Given the description of an element on the screen output the (x, y) to click on. 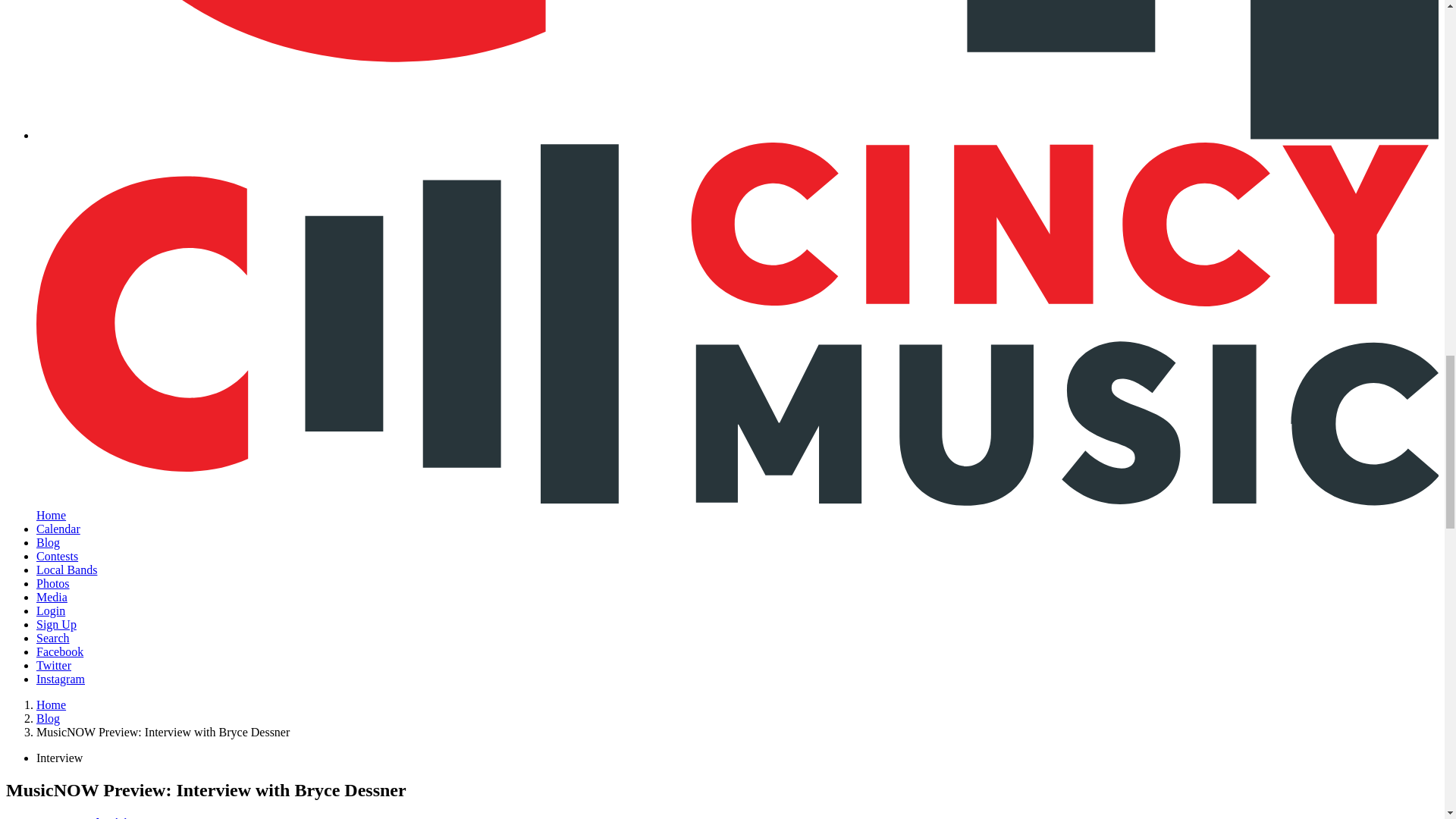
Contests (57, 555)
Sign Up (56, 624)
Blog (47, 542)
Local Bands (66, 569)
Home (50, 704)
Media (51, 596)
Calendar (58, 528)
Blog (47, 717)
Courtney Phenicie  (85, 817)
Facebook (59, 651)
